Given the description of an element on the screen output the (x, y) to click on. 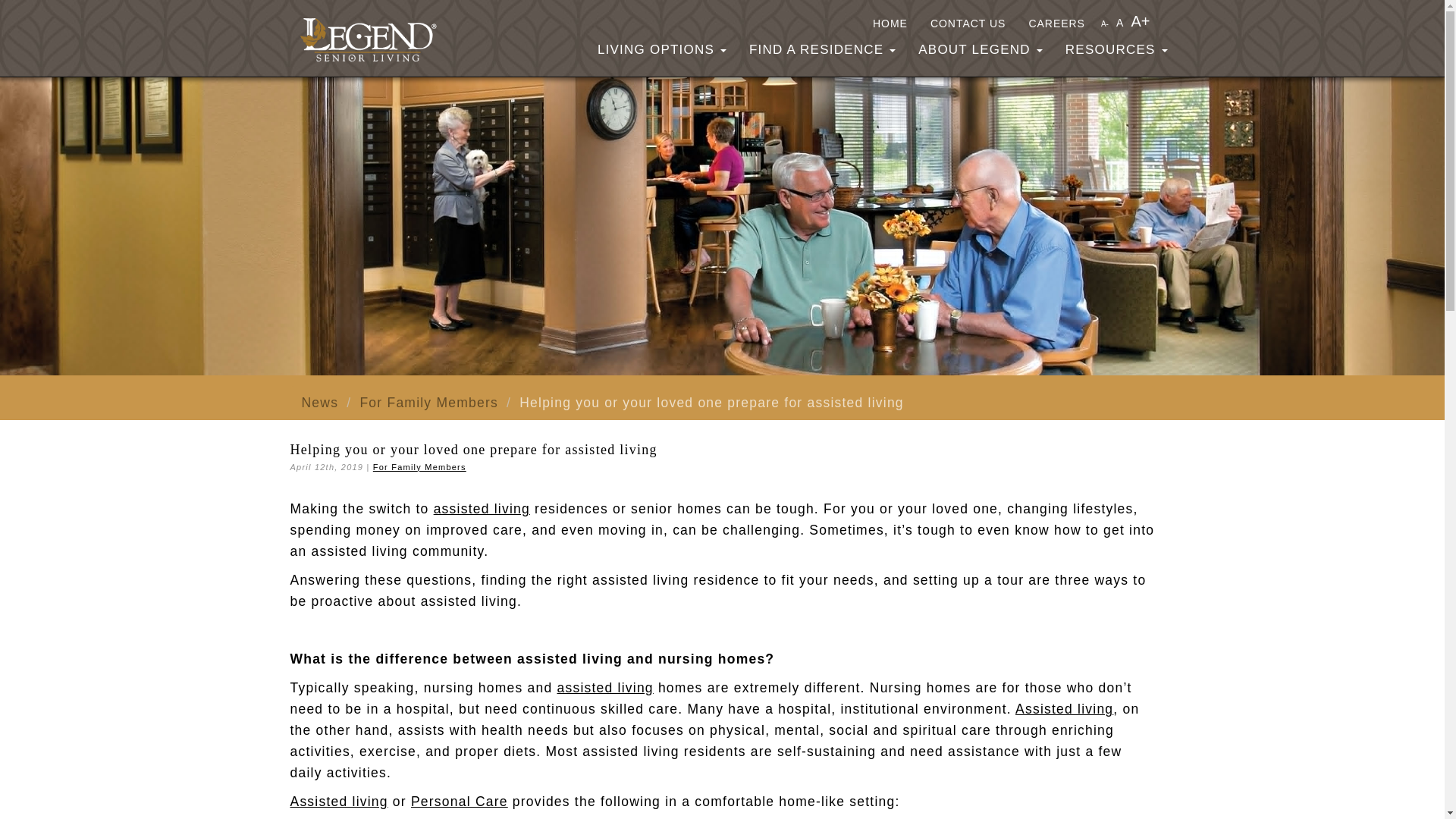
CONTACT US (967, 21)
HOME (889, 21)
About Legend (980, 49)
RESOURCES (1116, 49)
Living Options (662, 49)
ABOUT LEGEND (980, 49)
LIVING OPTIONS (662, 49)
For Family Members (428, 402)
News (320, 402)
Find a Residence (822, 49)
